Given the description of an element on the screen output the (x, y) to click on. 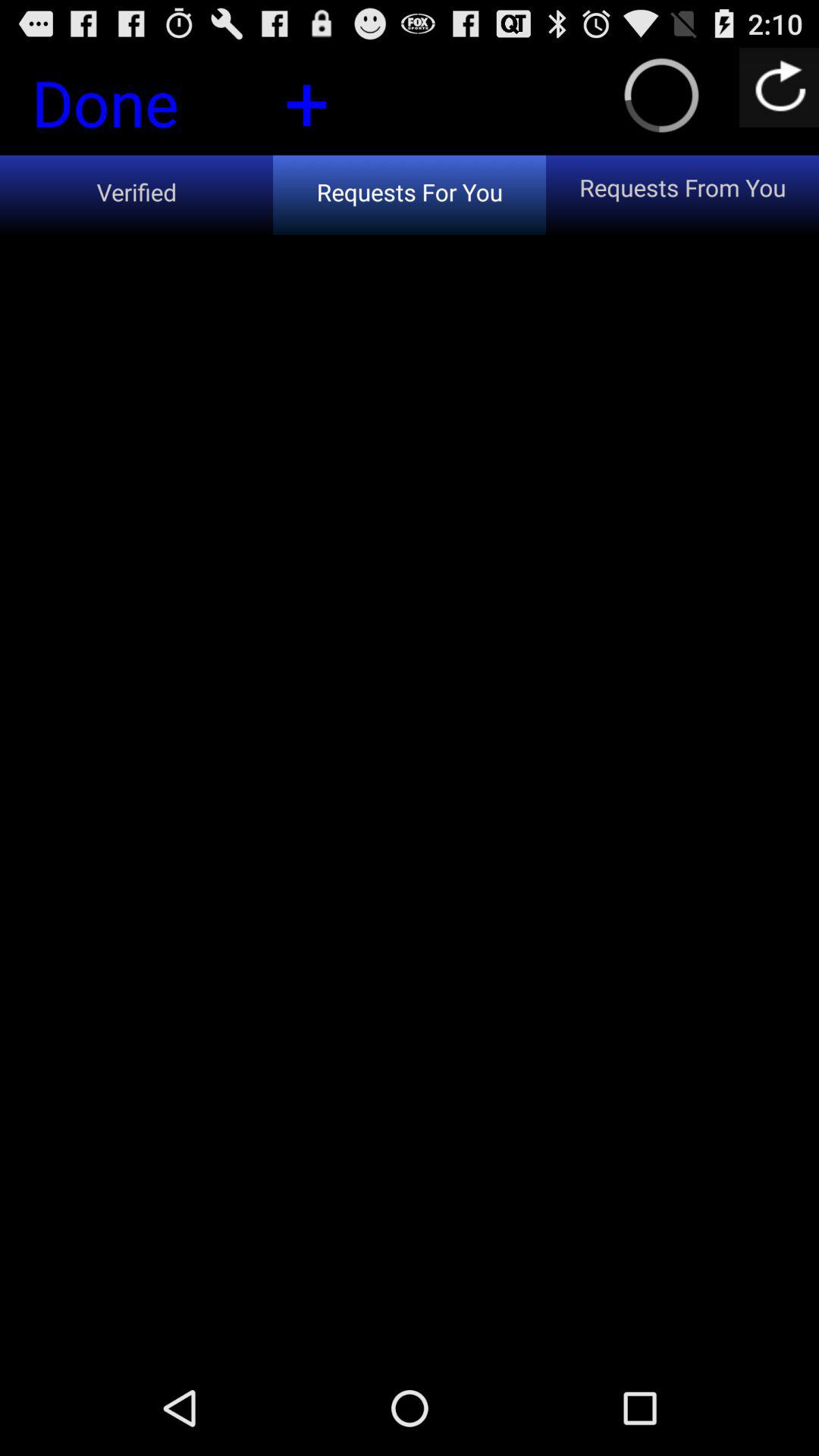
click the verified (136, 194)
